Given the description of an element on the screen output the (x, y) to click on. 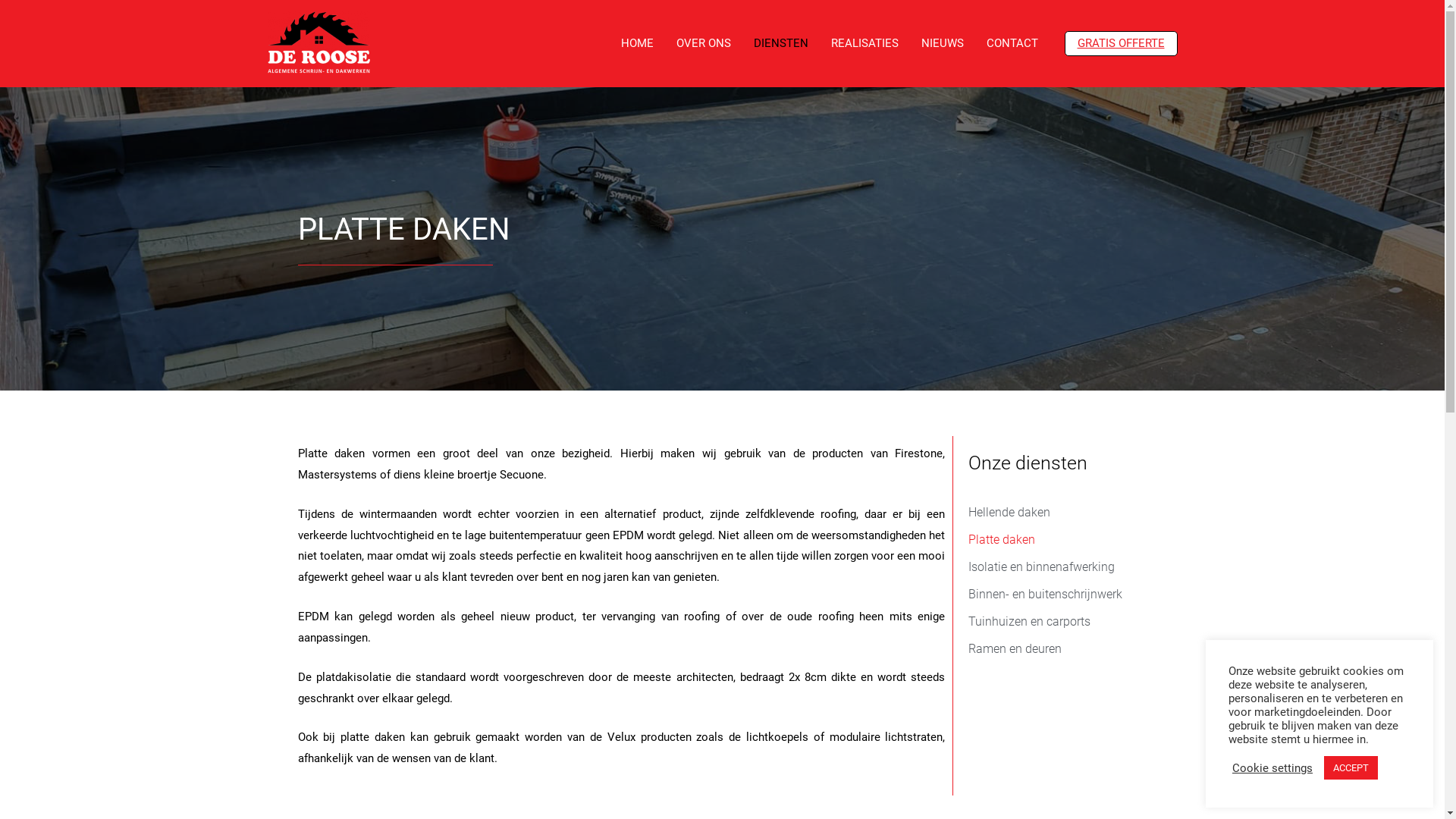
DIENSTEN Element type: text (780, 42)
HOME Element type: text (637, 42)
CONTACT Element type: text (1012, 42)
Platte daken Element type: text (1051, 539)
Hellende daken Element type: text (1051, 512)
REALISATIES Element type: text (864, 42)
ACCEPT Element type: text (1350, 767)
Cookie settings Element type: text (1272, 768)
GRATIS OFFERTE Element type: text (1120, 42)
Binnen- en buitenschrijnwerk Element type: text (1051, 594)
OVER ONS Element type: text (702, 42)
Tuinhuizen en carports Element type: text (1051, 621)
Isolatie en binnenafwerking Element type: text (1051, 566)
NIEUWS Element type: text (942, 42)
Ramen en deuren Element type: text (1051, 648)
